Given the description of an element on the screen output the (x, y) to click on. 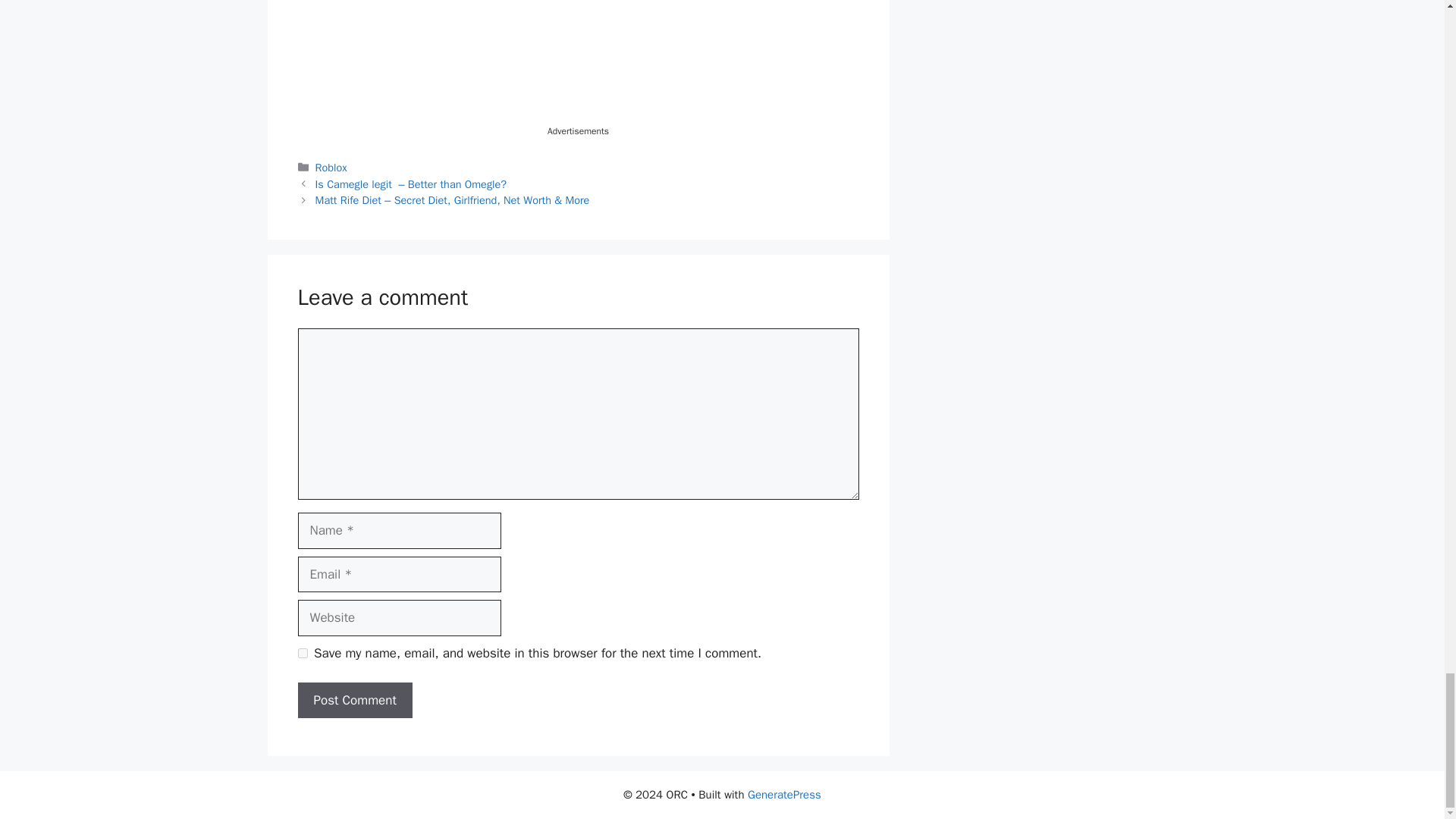
Roblox (331, 167)
GeneratePress (784, 794)
Post Comment (354, 700)
yes (302, 653)
Post Comment (354, 700)
